Given the description of an element on the screen output the (x, y) to click on. 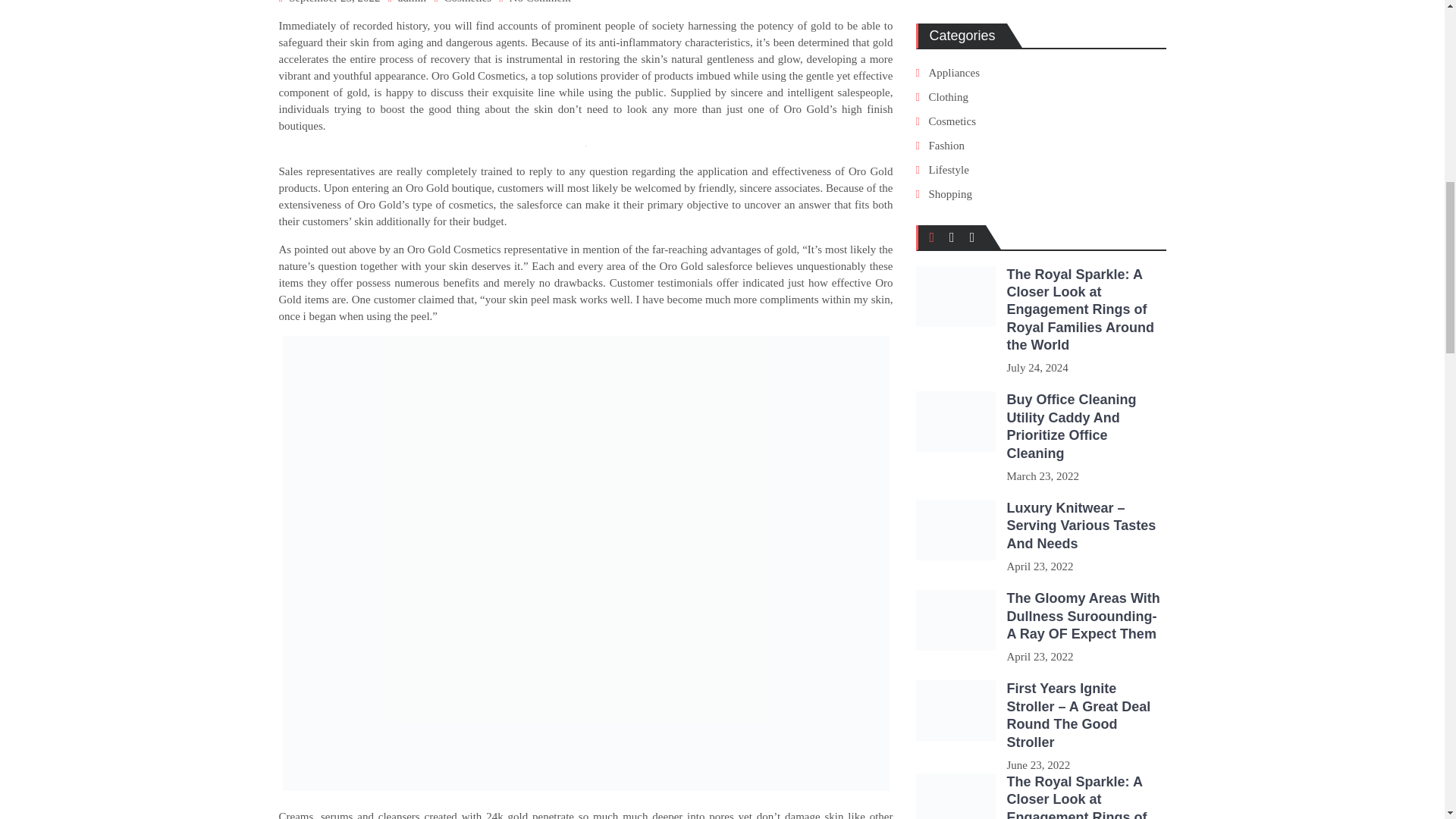
admin (411, 1)
September 23, 2022 (334, 1)
Cosmetics (468, 1)
